Given the description of an element on the screen output the (x, y) to click on. 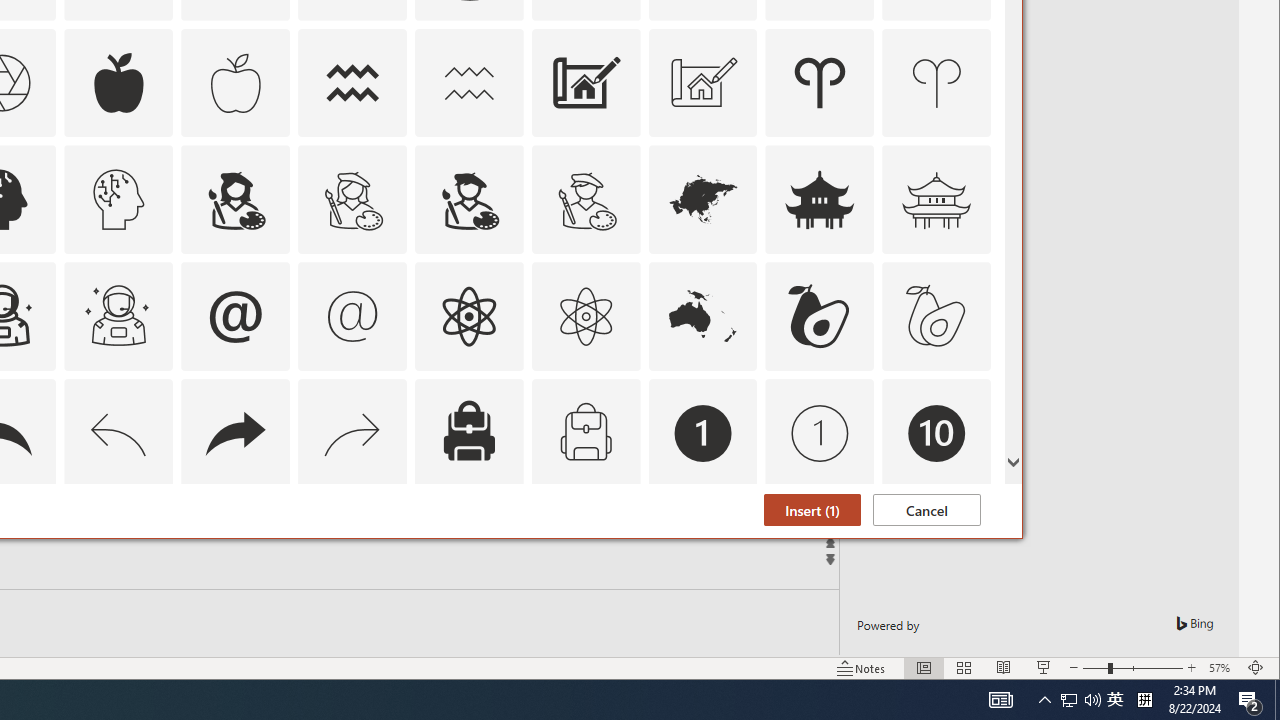
AutomationID: Icons_Badge1_M (819, 434)
AutomationID: Icons_Badge1 (702, 434)
AutomationID: Icons_At_M (353, 316)
AutomationID: Icons_Aquarius (353, 82)
